Given the description of an element on the screen output the (x, y) to click on. 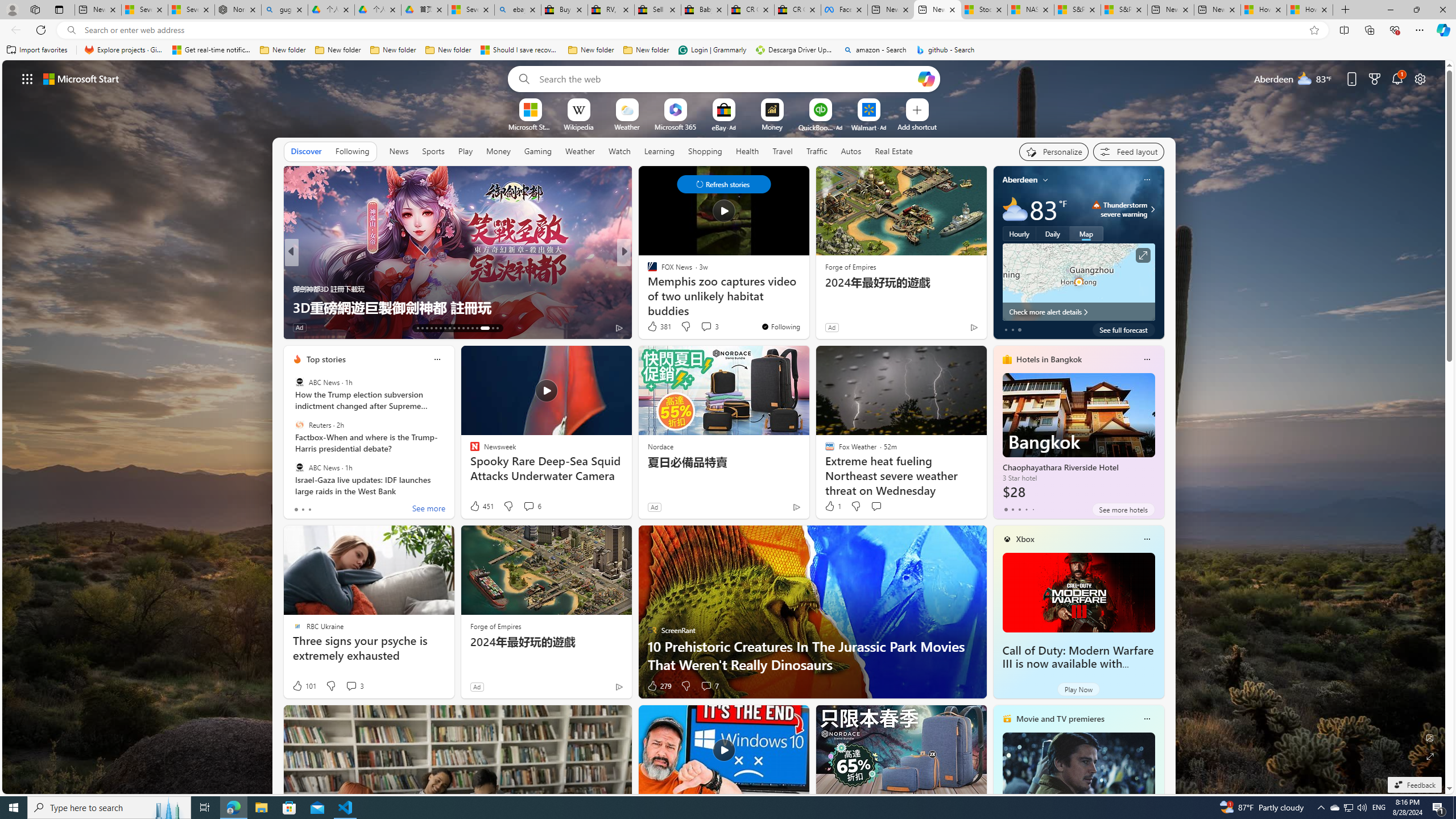
AutomationID: tab-23 (462, 328)
tab-1 (1012, 509)
Hotels in Bangkok (1048, 359)
451 Like (480, 505)
See more hotels (1123, 509)
AutomationID: backgroundImagePicture (723, 426)
3 Like (301, 327)
Travel (782, 151)
guge yunpan - Search (284, 9)
Weather (580, 151)
Health (746, 151)
